Given the description of an element on the screen output the (x, y) to click on. 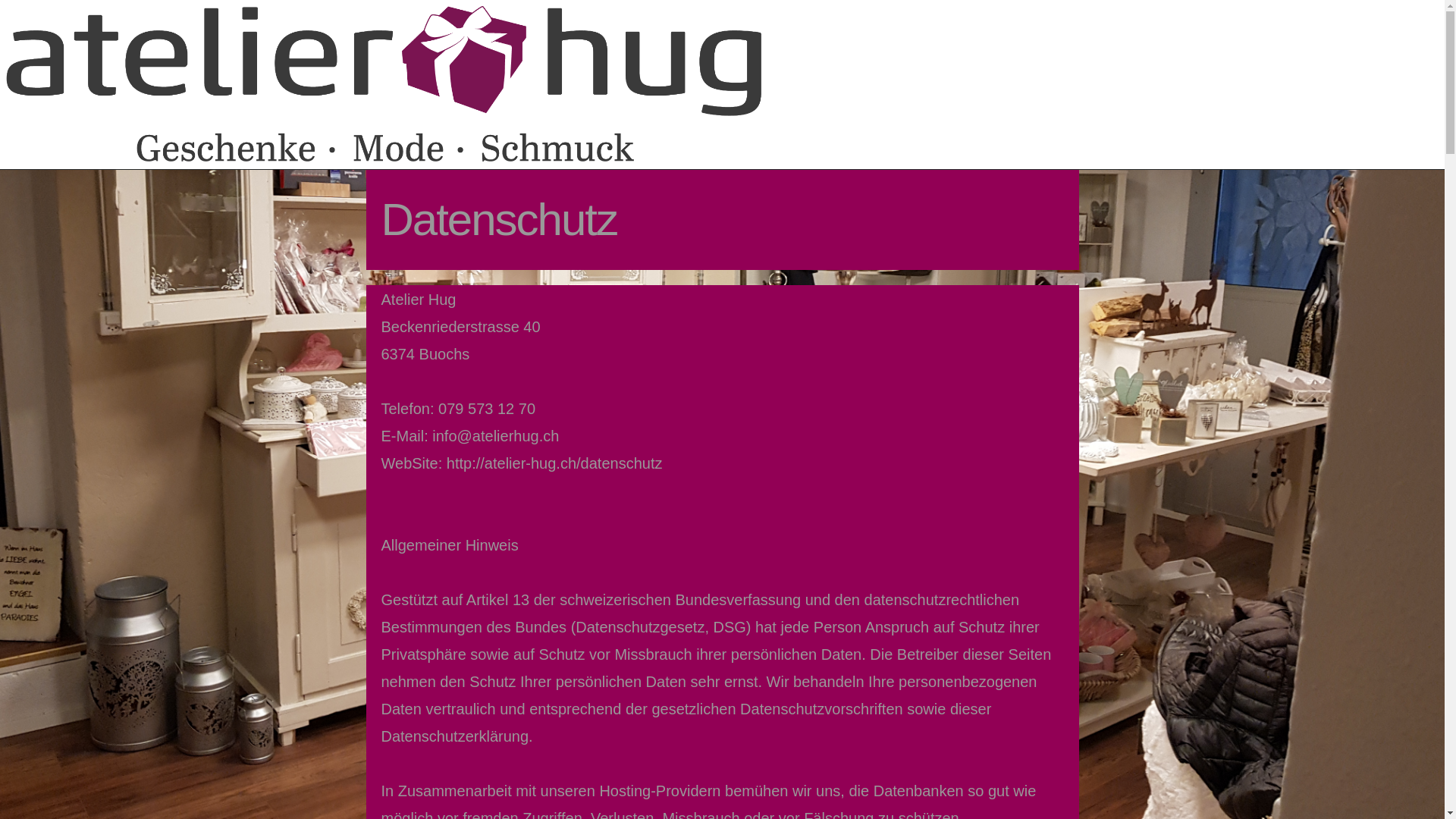
Atelier Hug Element type: hover (385, 83)
